Given the description of an element on the screen output the (x, y) to click on. 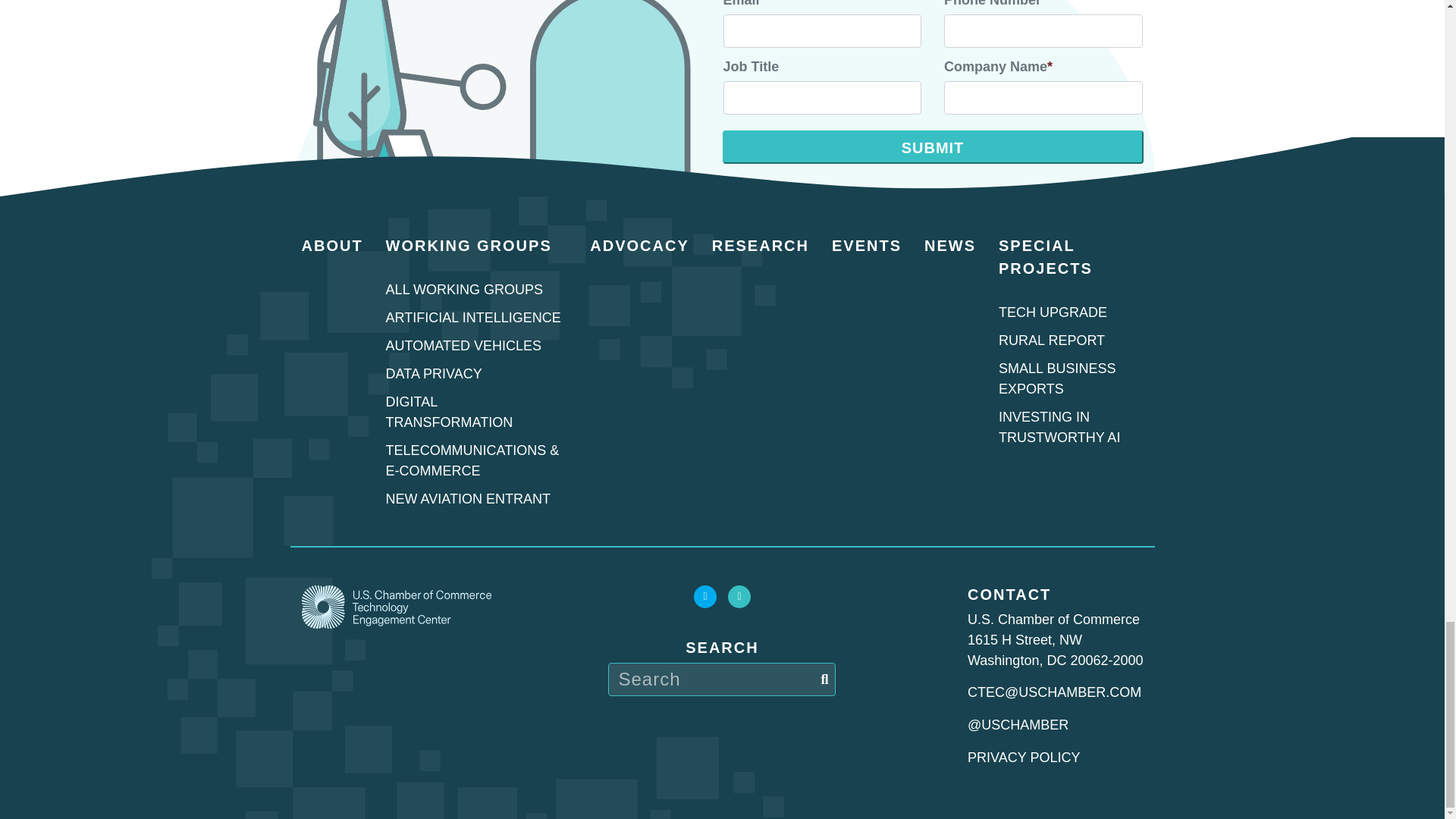
Phone Number (1042, 30)
Submit (932, 146)
Email (822, 30)
Job Title (822, 97)
Company Name (1042, 97)
